Given the description of an element on the screen output the (x, y) to click on. 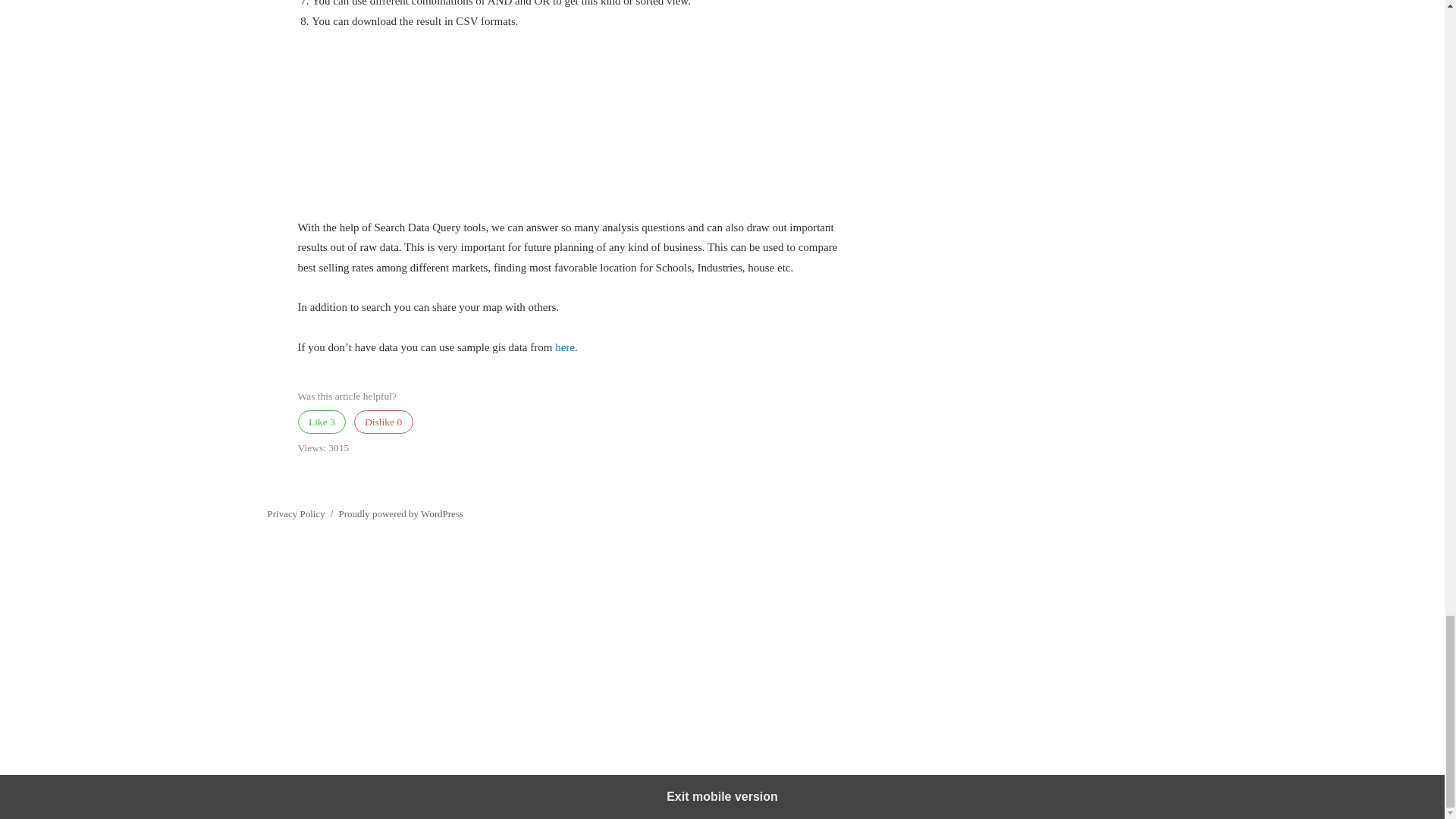
Like (321, 422)
Like 3 (321, 422)
Privacy Policy (295, 513)
Dislike 0 (382, 422)
Proudly powered by WordPress (401, 513)
here (564, 346)
Dislike (382, 422)
